Given the description of an element on the screen output the (x, y) to click on. 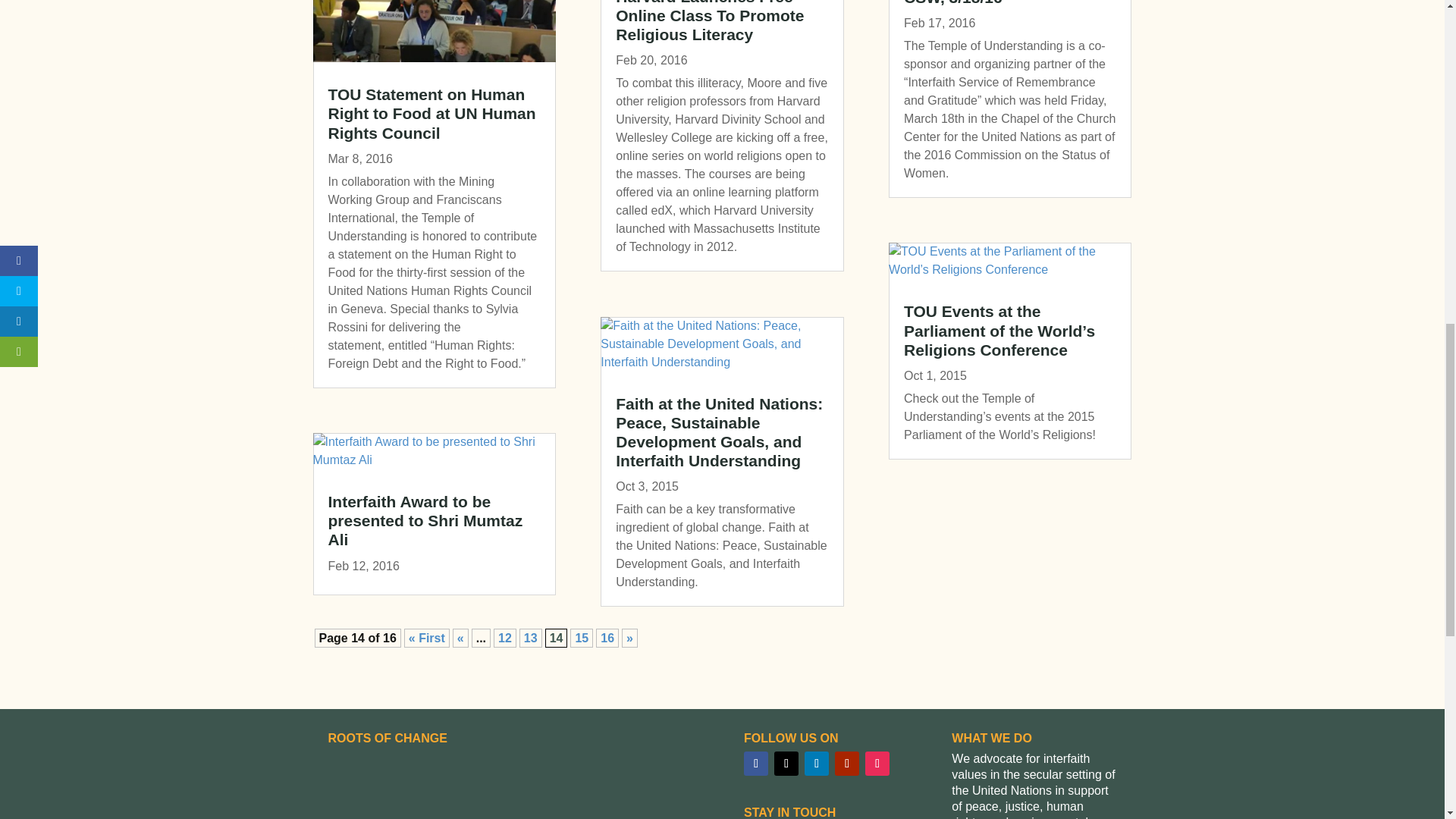
Page 15 (581, 637)
Roots of Change: Food Sovereignty, Women, and Eco-Justice (513, 785)
Follow on Youtube (846, 763)
Follow on Facebook (756, 763)
Page 16 (606, 637)
Follow on X (785, 763)
Follow on LinkedIn (816, 763)
Page 13 (530, 637)
Page 12 (504, 637)
Follow on Instagram (876, 763)
